Given the description of an element on the screen output the (x, y) to click on. 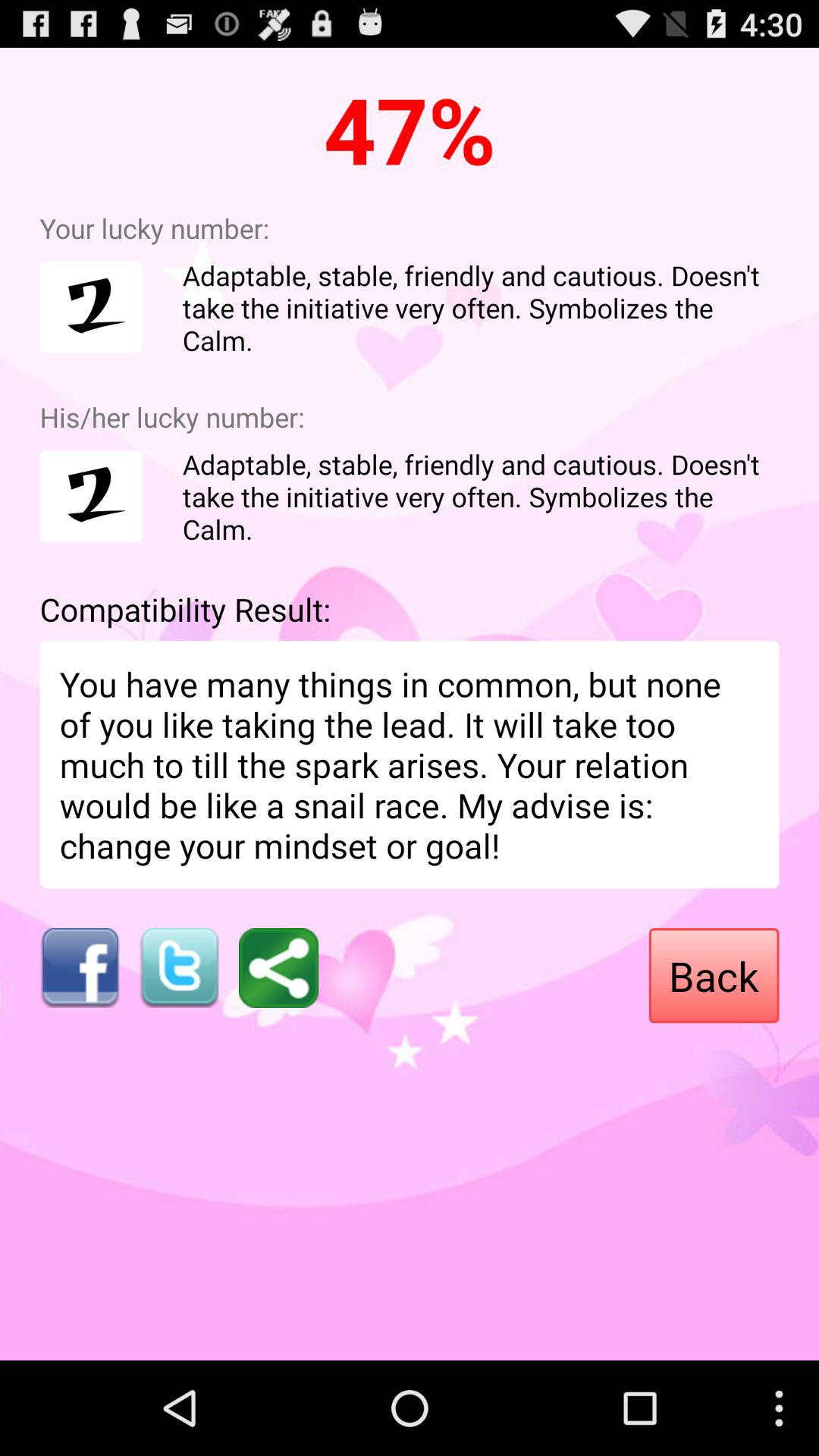
turn off item to the left of the back (278, 967)
